Given the description of an element on the screen output the (x, y) to click on. 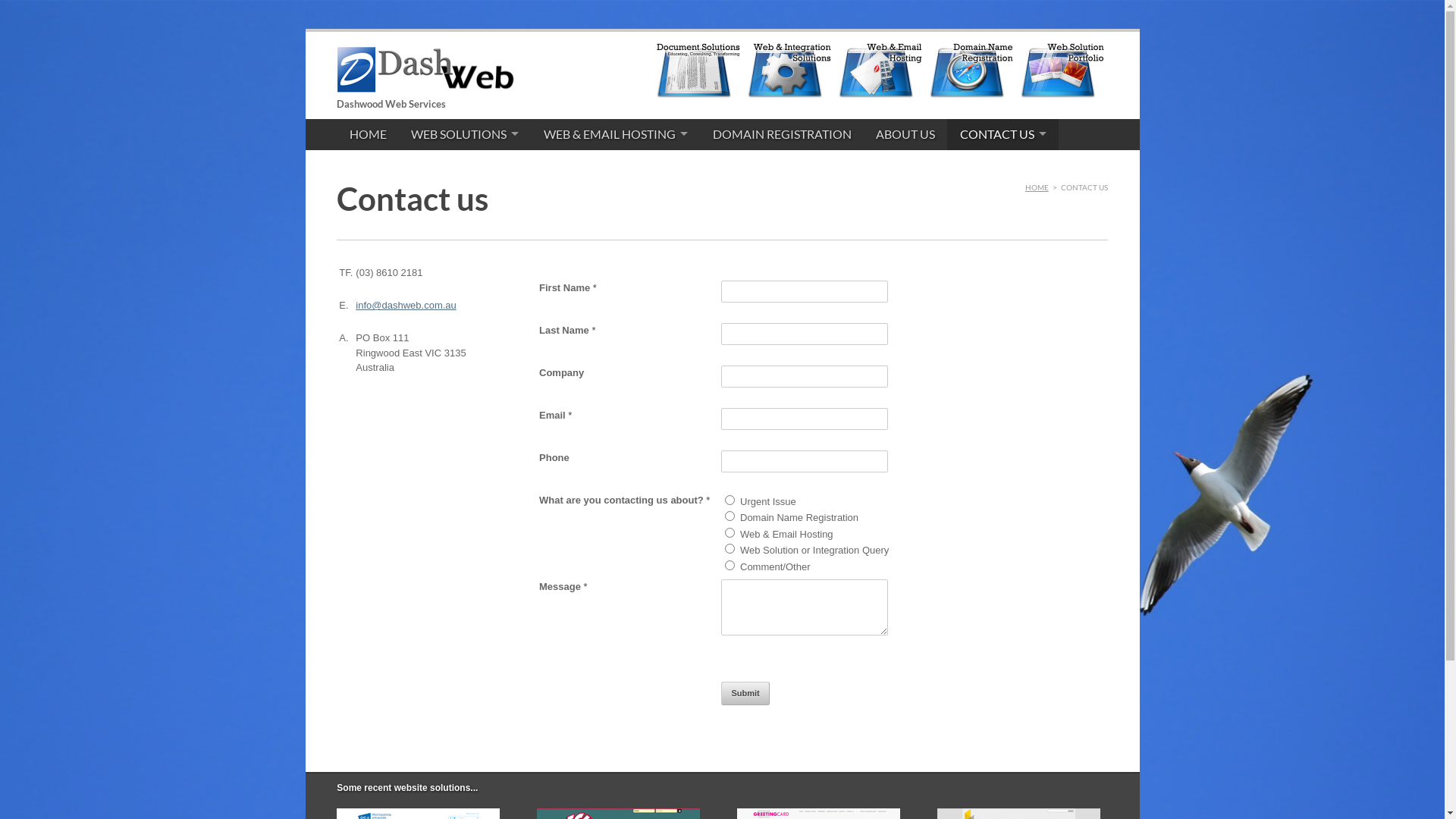
Domain Registration Element type: hover (970, 96)
Web Solutions Element type: hover (788, 96)
Web & Email Hosting Element type: hover (879, 96)
Document Solutions Element type: hover (697, 96)
info@dashweb.com.au Element type: text (405, 304)
Submit Element type: text (744, 693)
CONTACT US Element type: text (1002, 134)
DashWeb - Web & Internet Services by Dashwood Consulting Element type: hover (425, 79)
DOMAIN REGISTRATION Element type: text (781, 134)
ABOUT US Element type: text (905, 134)
WEB SOLUTIONS Element type: text (464, 134)
Web Solution Portfolio Element type: hover (1061, 96)
WEB & EMAIL HOSTING Element type: text (615, 134)
HOME Element type: text (367, 134)
HOME Element type: text (1036, 186)
